Given the description of an element on the screen output the (x, y) to click on. 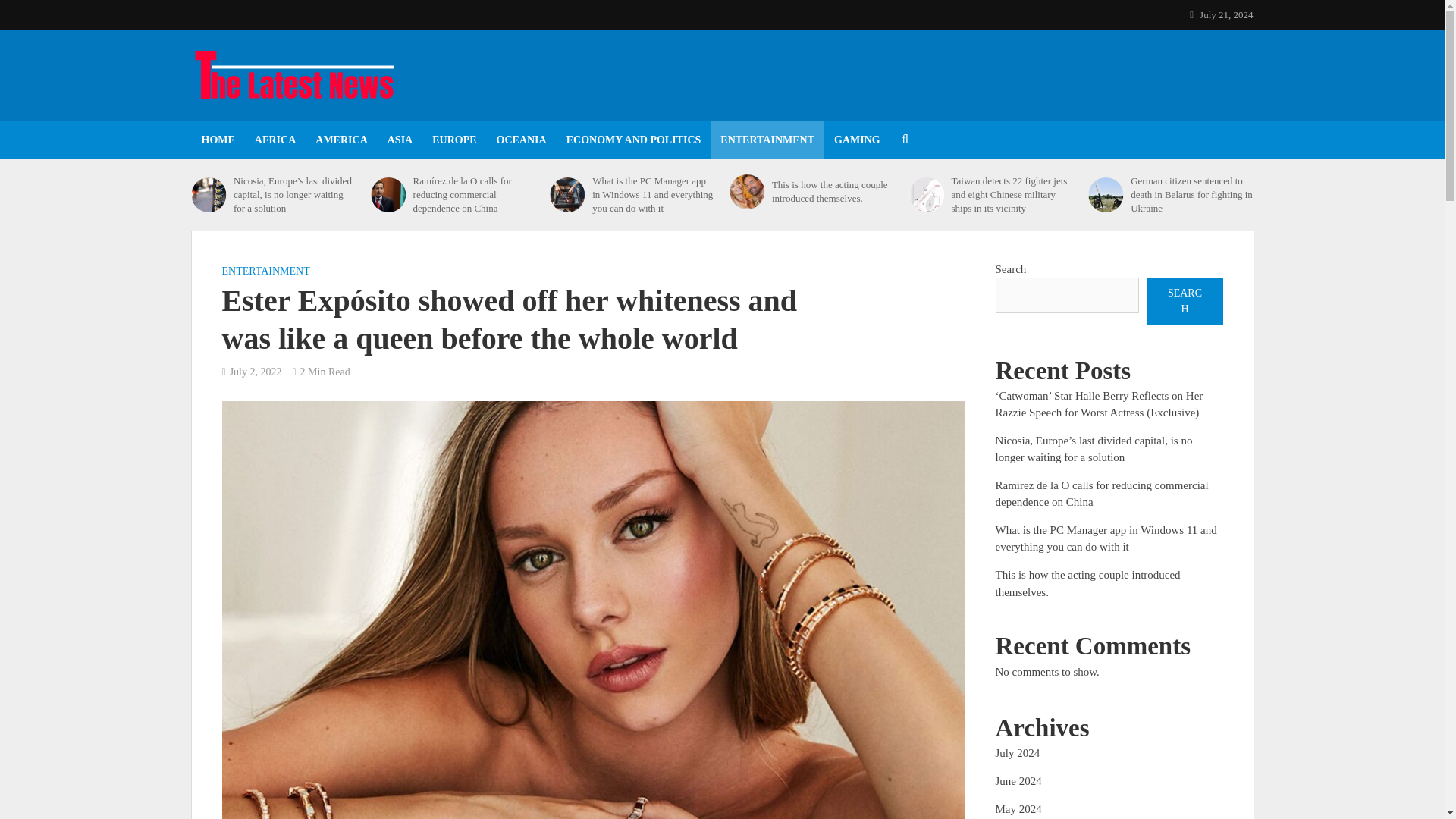
HOME (217, 139)
ECONOMY AND POLITICS (633, 139)
ENTERTAINMENT (767, 139)
ASIA (399, 139)
This is how the acting couple introduced themselves. (745, 191)
EUROPE (454, 139)
AMERICA (341, 139)
This is how the acting couple introduced themselves. (833, 191)
AFRICA (274, 139)
GAMING (856, 139)
